Given the description of an element on the screen output the (x, y) to click on. 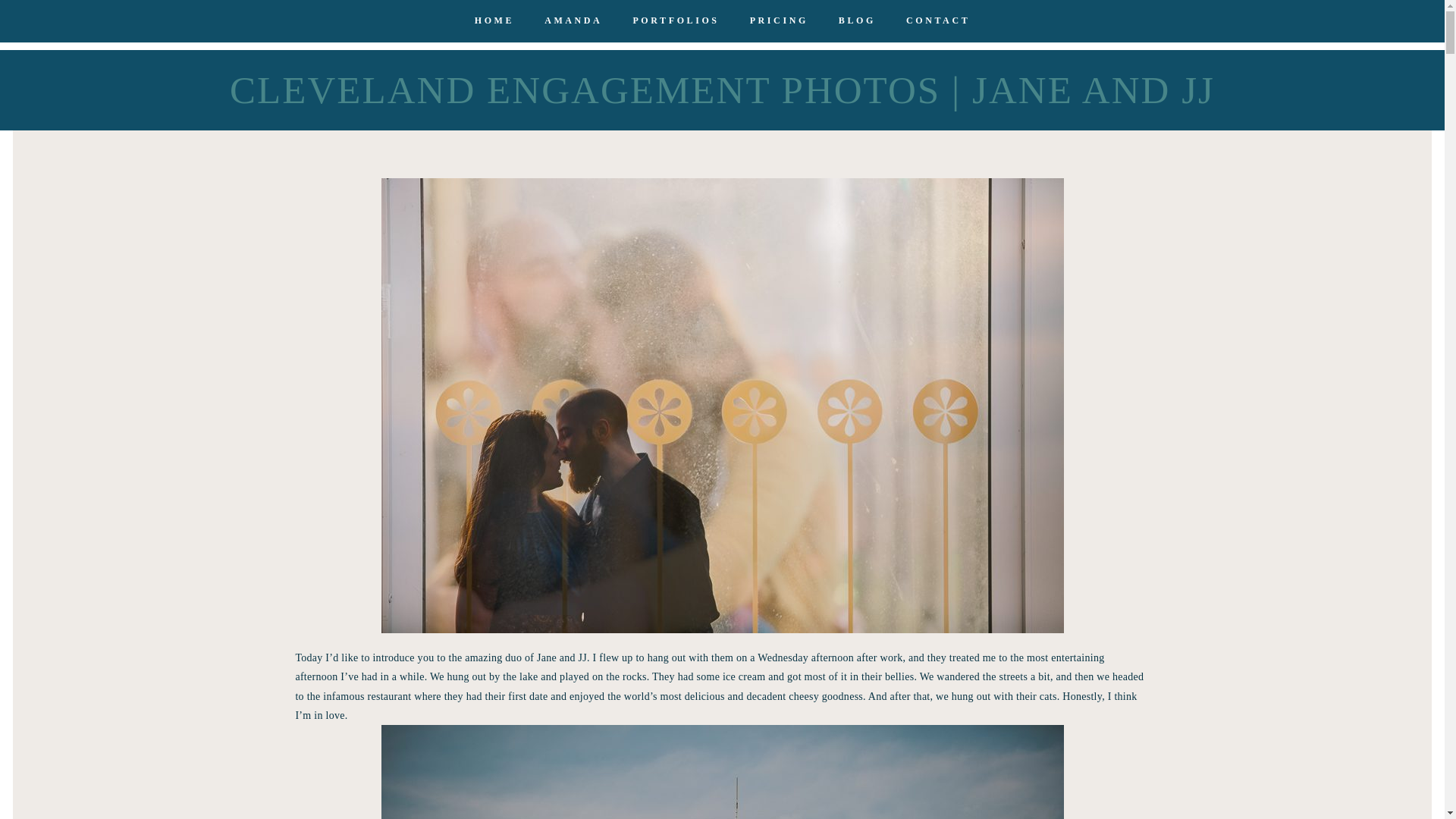
CONTACT (937, 20)
HOME (493, 20)
PRICING (778, 20)
PORTFOLIOS (675, 20)
BLOG (857, 20)
AMANDA (573, 20)
